Given the description of an element on the screen output the (x, y) to click on. 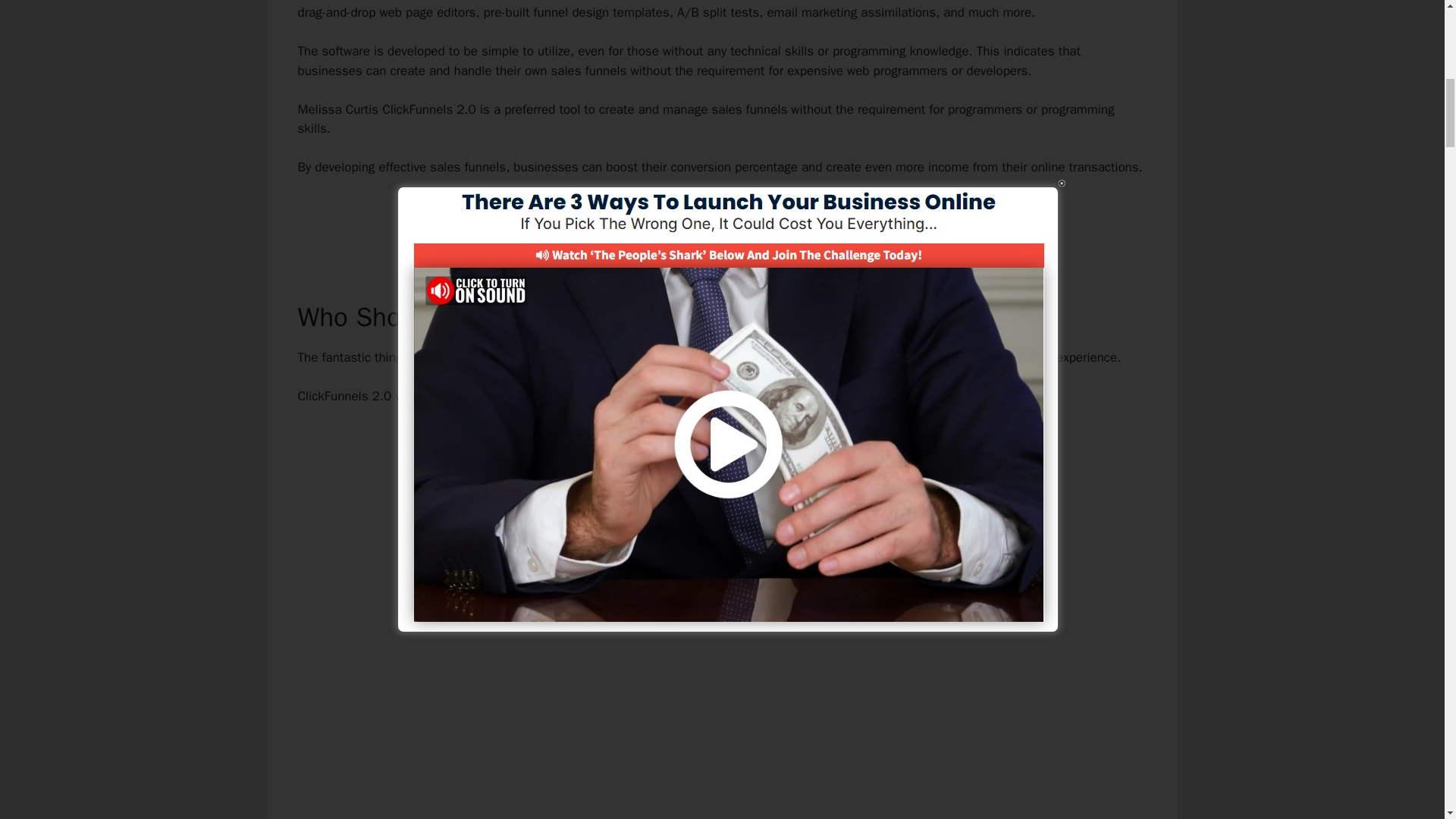
Go Here To See ClickFunnels 2.0 Demo Today (722, 219)
